Given the description of an element on the screen output the (x, y) to click on. 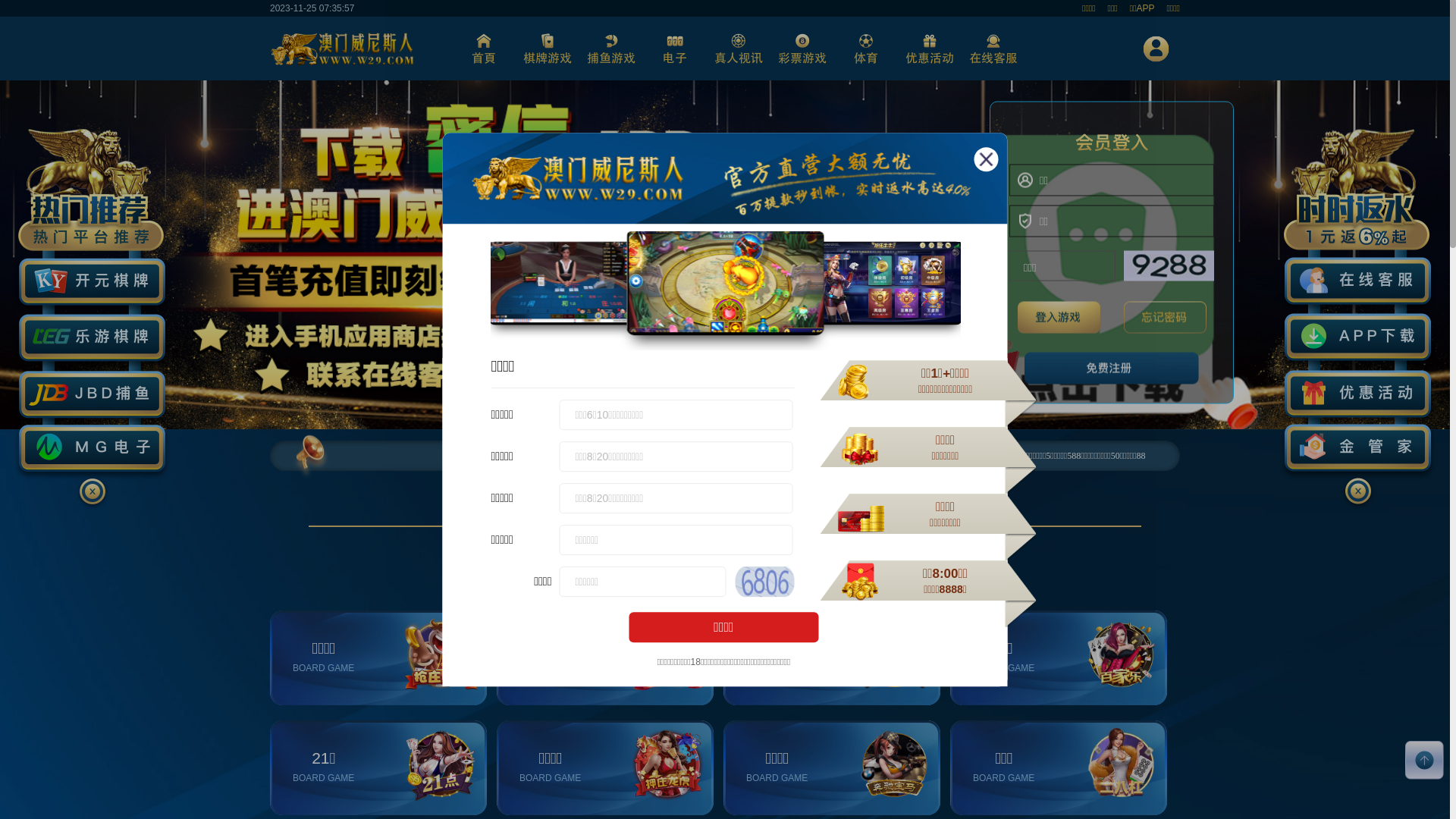
2023-11-25 07:35:56 Element type: text (311, 7)
